Given the description of an element on the screen output the (x, y) to click on. 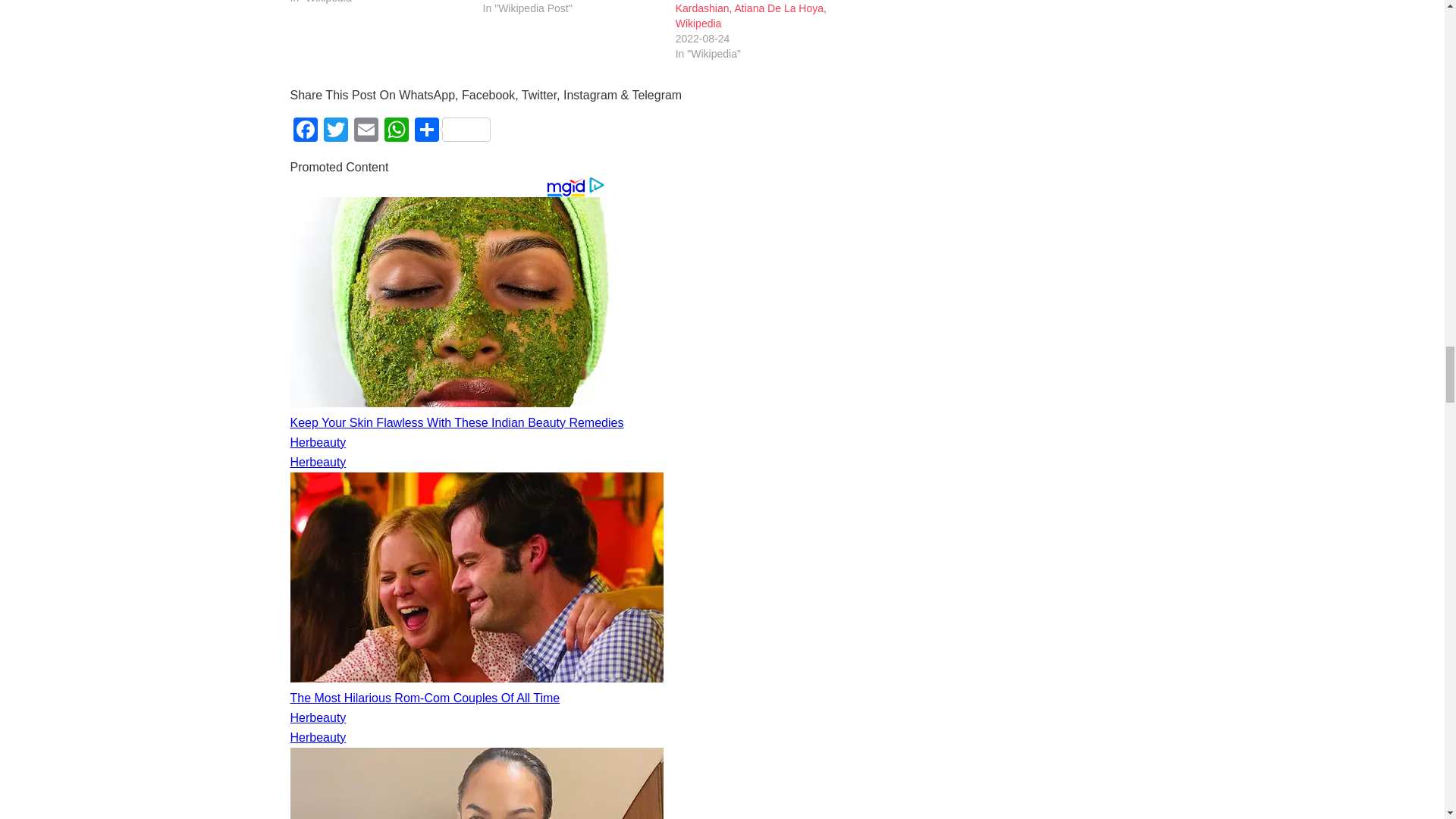
WhatsApp (395, 131)
Facebook (304, 131)
Twitter (335, 131)
Email (365, 131)
